Given the description of an element on the screen output the (x, y) to click on. 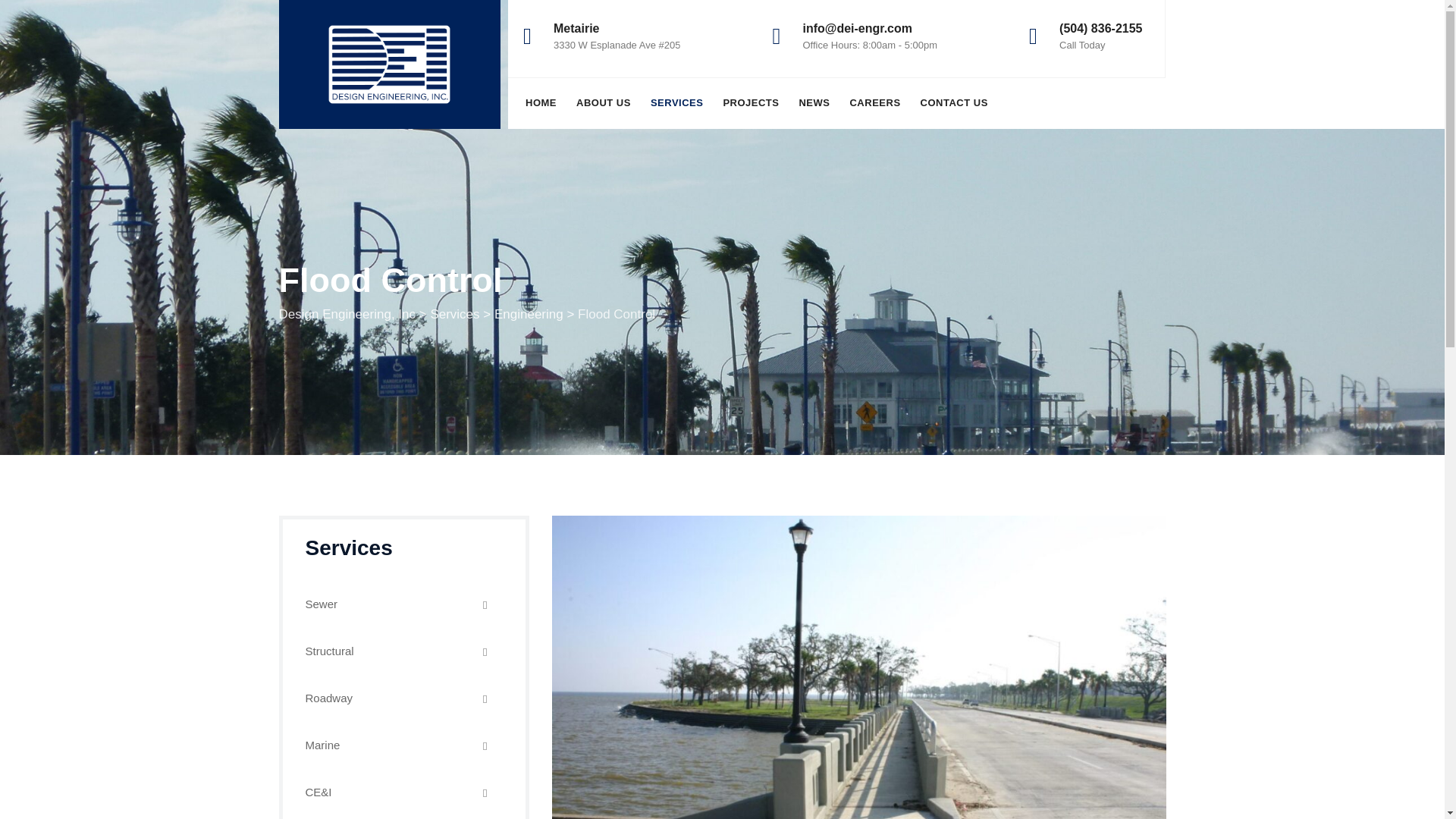
SERVICES (676, 102)
CAREERS (873, 102)
Engineering (529, 314)
PROJECTS (750, 102)
Marine (403, 744)
Design Engineering, Inc (389, 64)
ABOUT US (603, 102)
Go to Services. (454, 314)
Go to Design Engineering, Inc. (347, 314)
Sewer (403, 604)
Design Engineering, Inc (347, 314)
Services (454, 314)
